Given the description of an element on the screen output the (x, y) to click on. 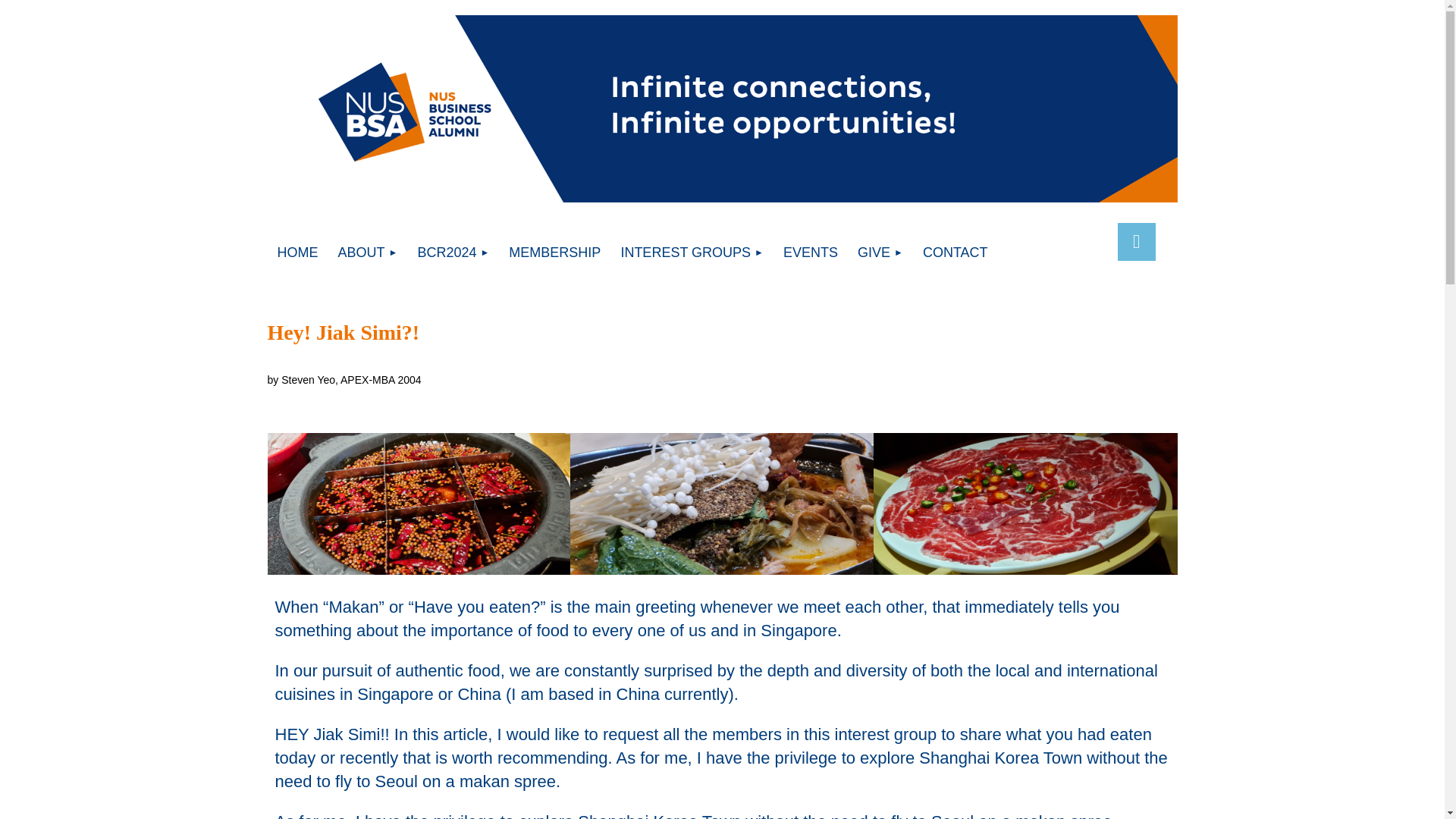
BCR2024 (453, 252)
ABOUT (367, 252)
MEMBERSHIP (554, 252)
HOME (296, 252)
INTEREST GROUPS (691, 252)
